Given the description of an element on the screen output the (x, y) to click on. 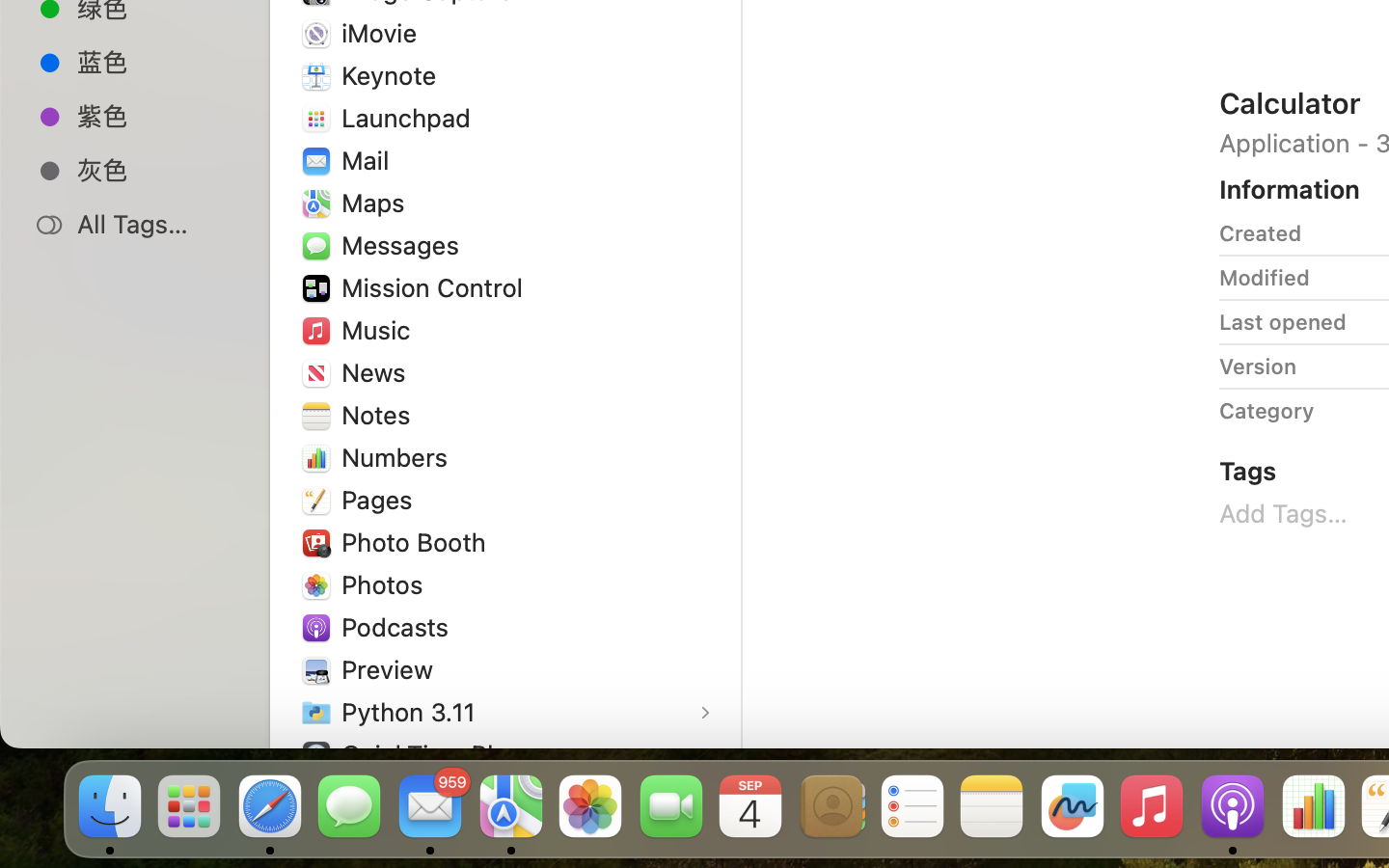
Music Element type: AXTextField (379, 329)
Pages Element type: AXTextField (380, 499)
灰色 Element type: AXStaticText (155, 169)
Category Element type: AXStaticText (1266, 410)
Photo Booth Element type: AXTextField (417, 541)
